Given the description of an element on the screen output the (x, y) to click on. 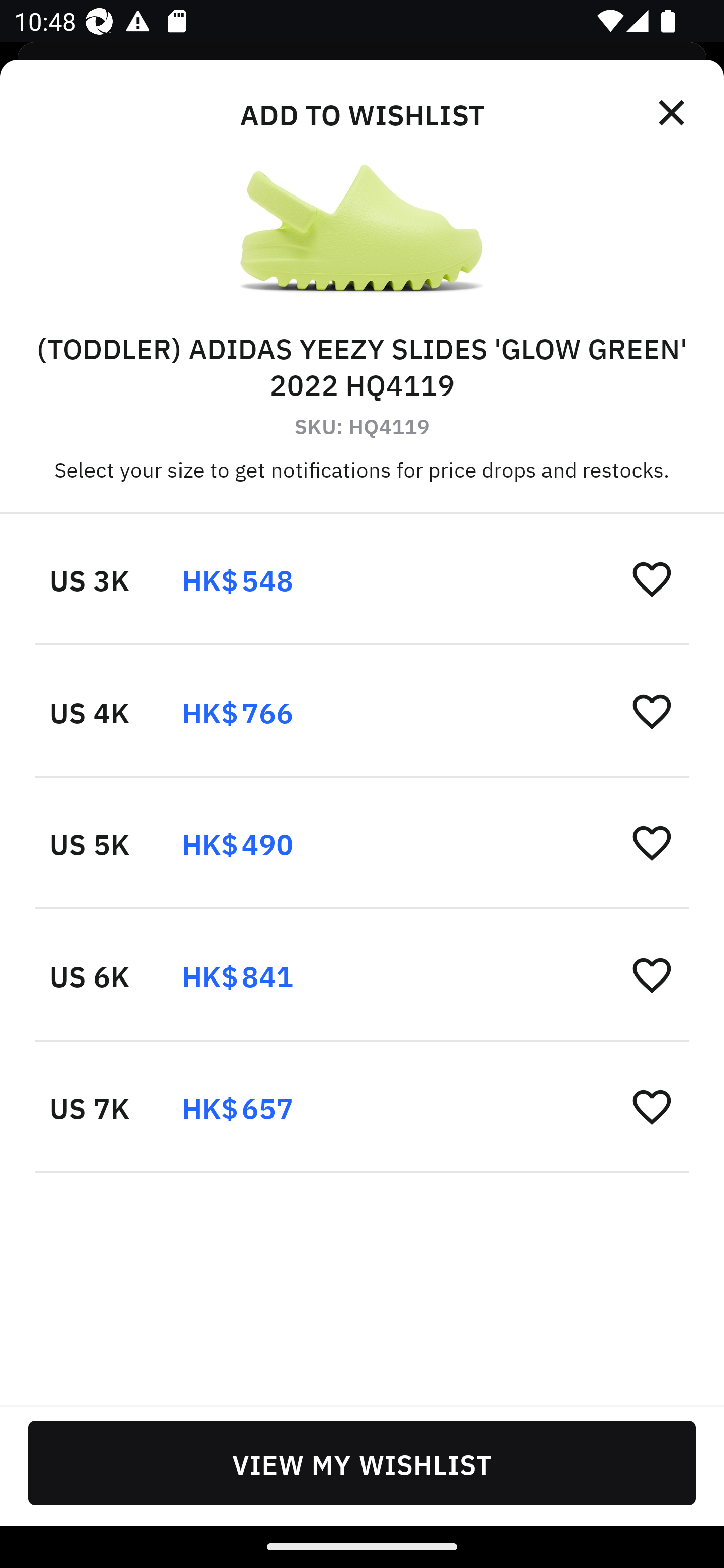
 (672, 112)
󰋕 (651, 578)
󰋕 (651, 710)
󰋕 (651, 842)
󰋕 (651, 974)
󰋕 (651, 1105)
VIEW MY WISHLIST (361, 1462)
